Given the description of an element on the screen output the (x, y) to click on. 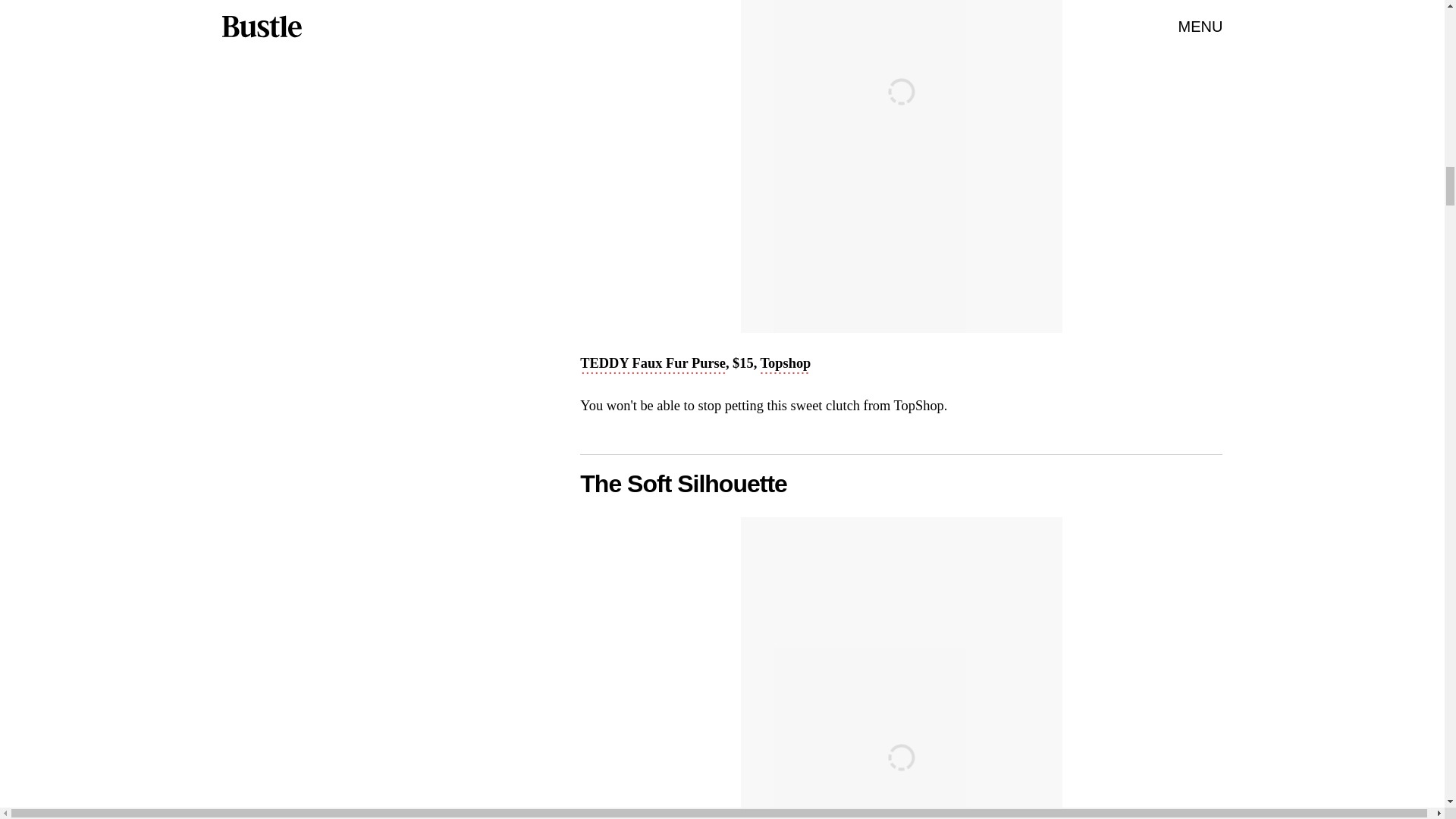
TEDDY Faux Fur Purse (652, 364)
Topshop (785, 364)
